Given the description of an element on the screen output the (x, y) to click on. 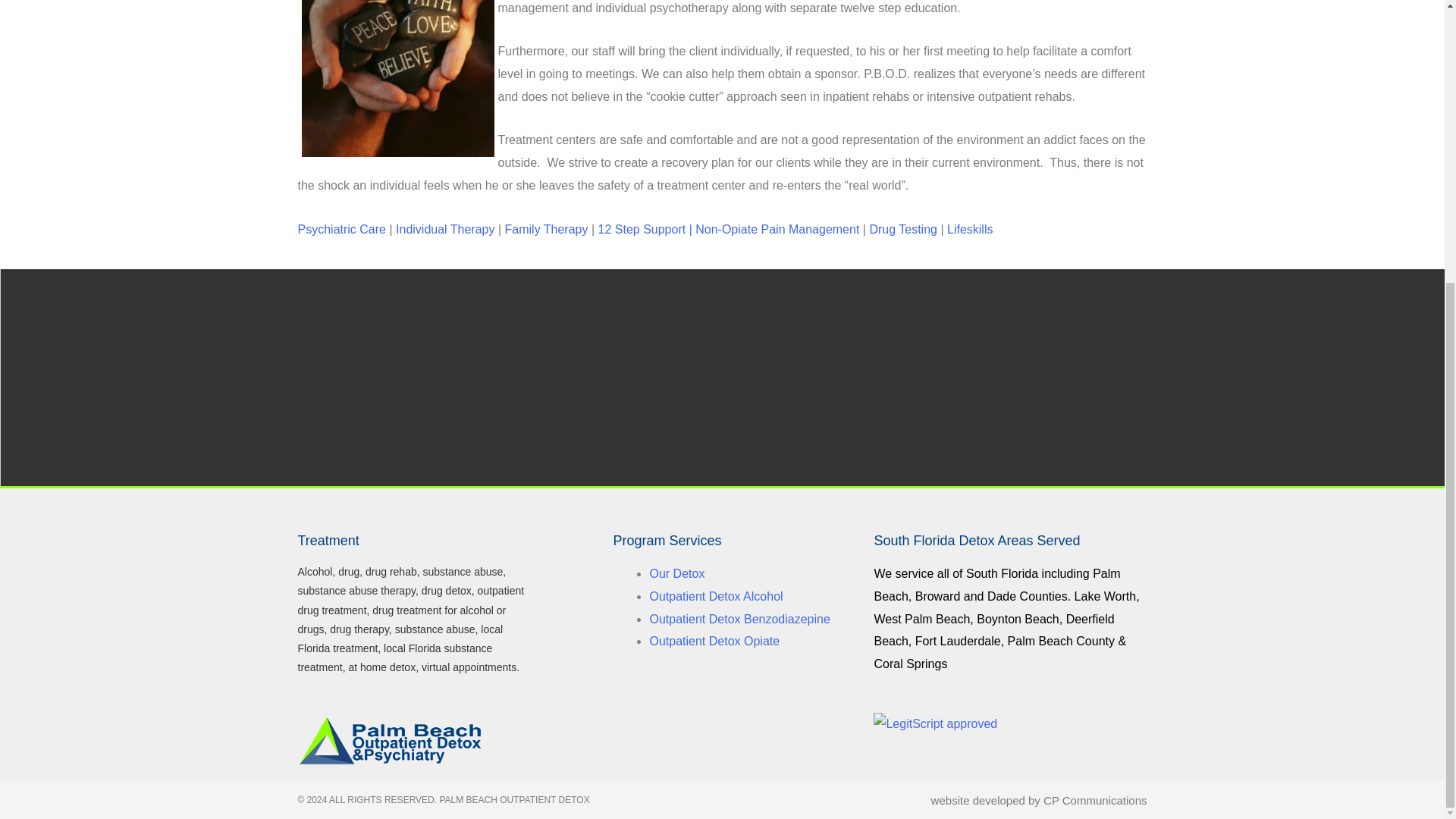
Psychiatric Evaluation (341, 228)
Verify LegitScript Approval (935, 722)
Family Therapy (546, 228)
Individual Therapy (445, 228)
Lifeskills Support (969, 228)
Drug Testing (903, 228)
